Given the description of an element on the screen output the (x, y) to click on. 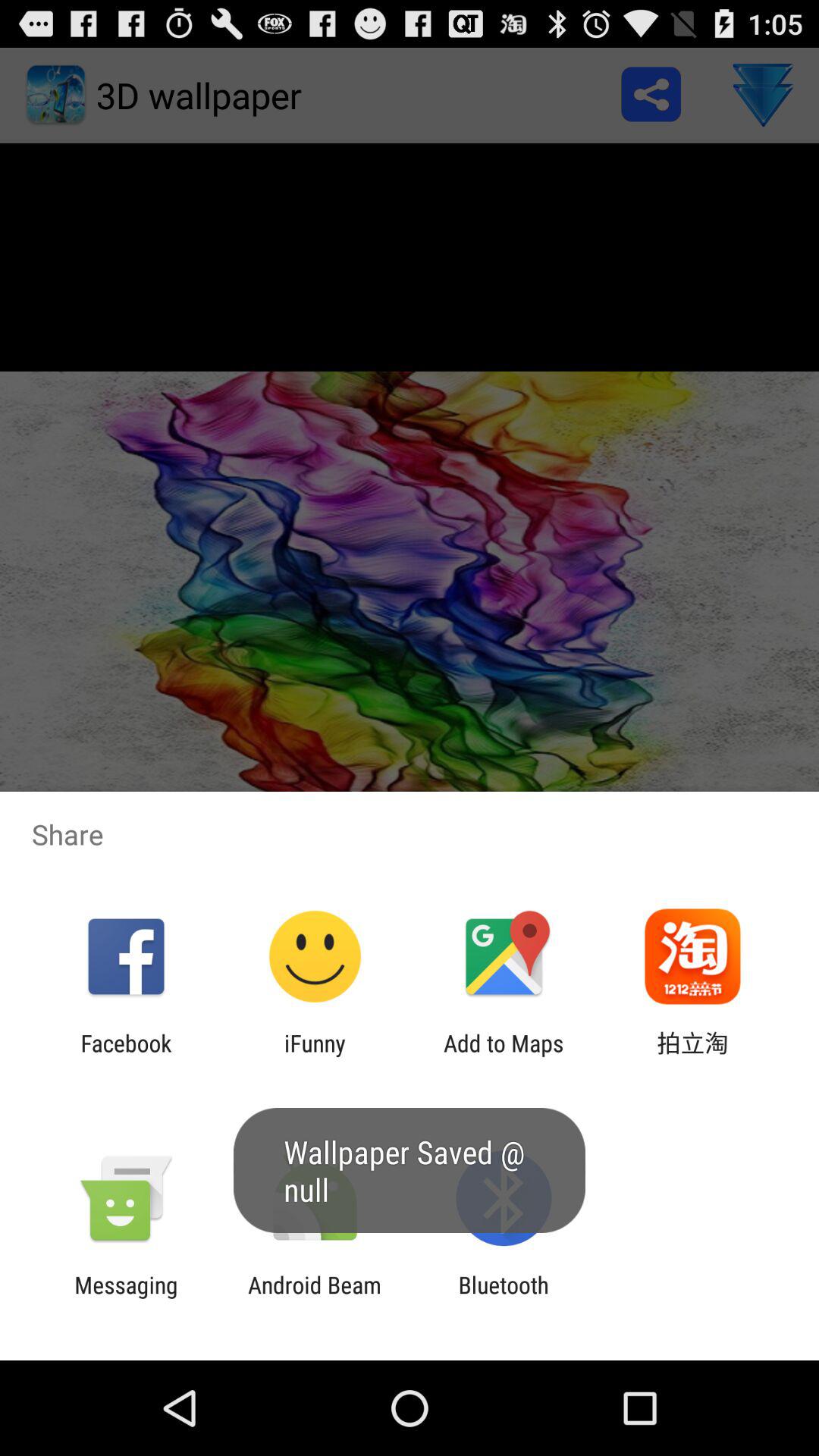
scroll until facebook (125, 1056)
